Given the description of an element on the screen output the (x, y) to click on. 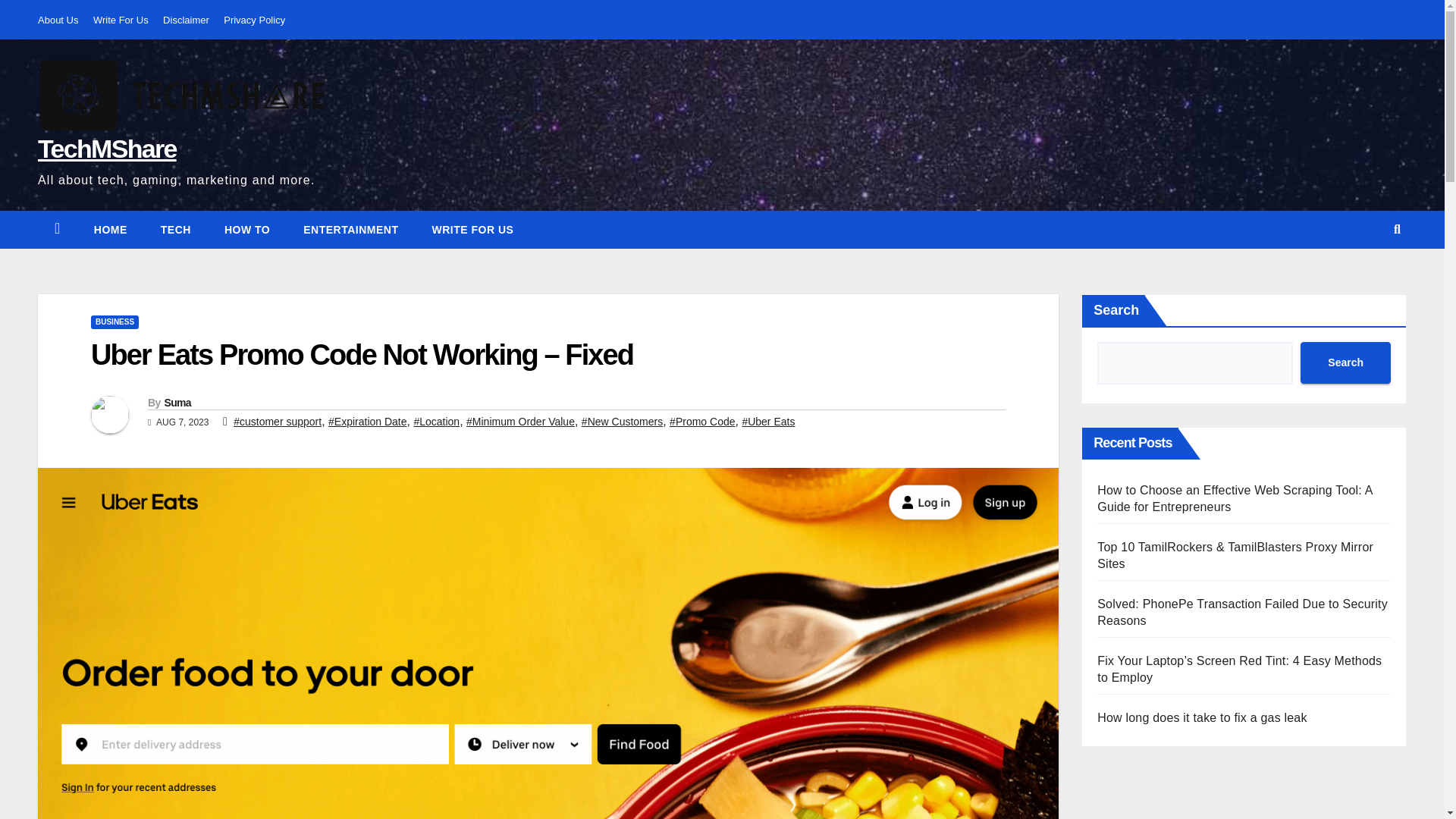
WRITE FOR US (471, 229)
Privacy Policy (254, 19)
Write For Us (120, 19)
Disclaimer (186, 19)
How to (247, 229)
ENTERTAINMENT (350, 229)
HOME (110, 229)
Tech (176, 229)
Suma (176, 402)
About Us (57, 19)
